Given the description of an element on the screen output the (x, y) to click on. 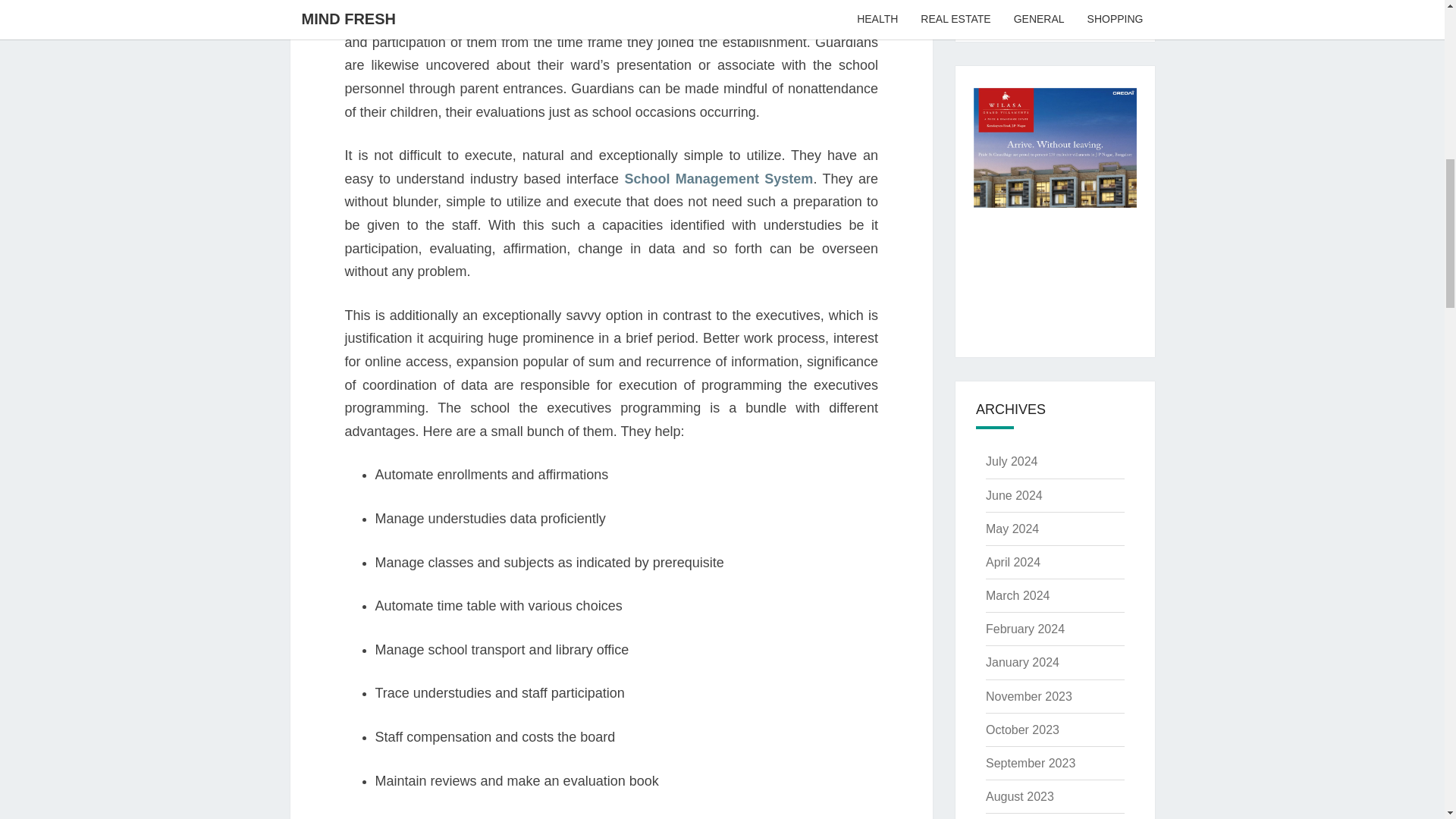
November 2023 (1028, 696)
October 2023 (1022, 729)
September 2023 (1030, 762)
May 2024 (1012, 528)
July 2024 (1011, 461)
February 2024 (1024, 628)
January 2024 (1022, 662)
School Management System (718, 178)
August 2023 (1019, 796)
March 2024 (1017, 594)
June 2024 (1013, 494)
April 2024 (1013, 562)
